Given the description of an element on the screen output the (x, y) to click on. 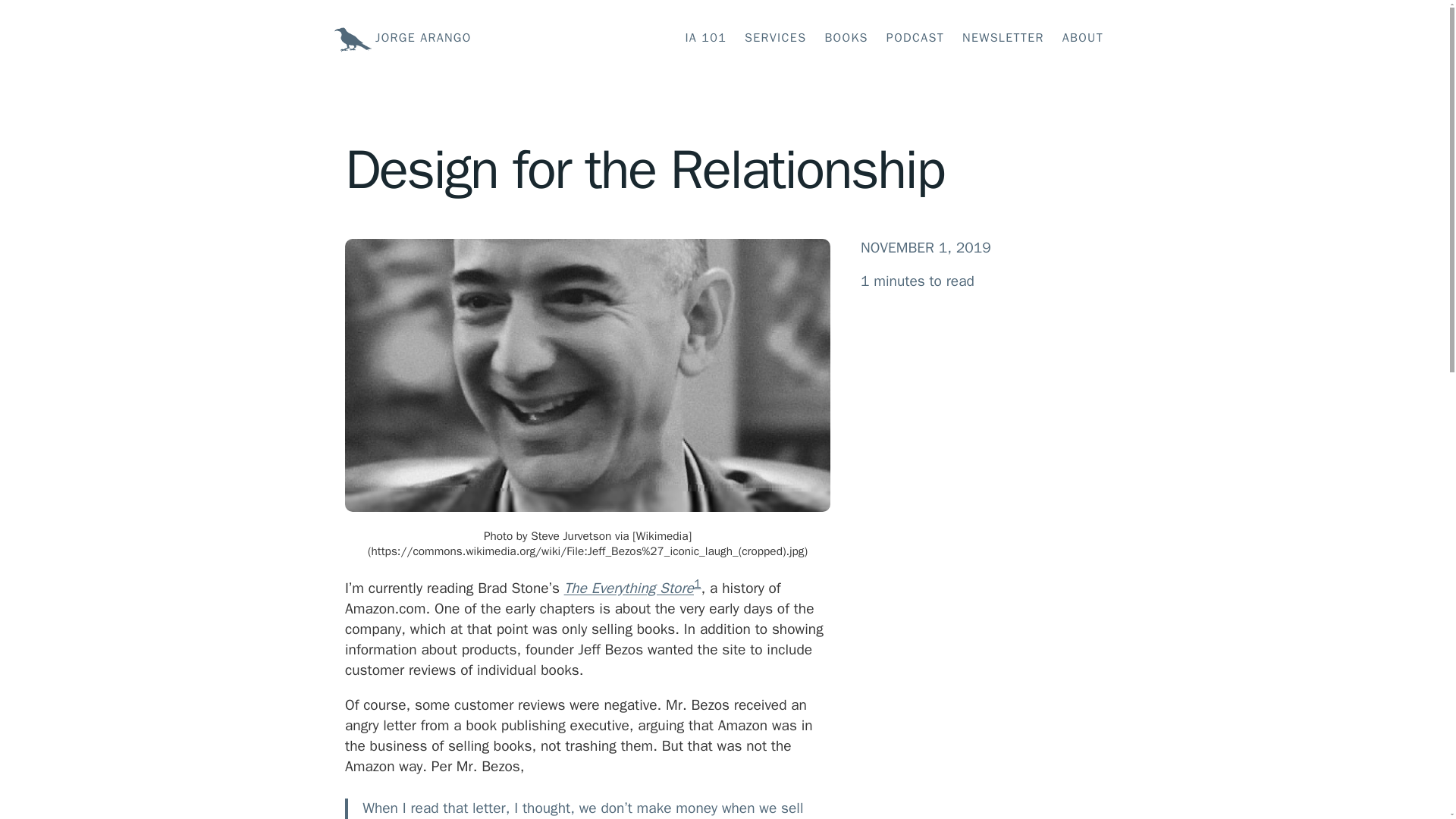
SERVICES (775, 37)
PODCAST (914, 37)
BOOKS (845, 37)
NEWSLETTER (1002, 37)
ABOUT (1082, 37)
IA 101 (705, 37)
The Everything Store (629, 588)
